Given the description of an element on the screen output the (x, y) to click on. 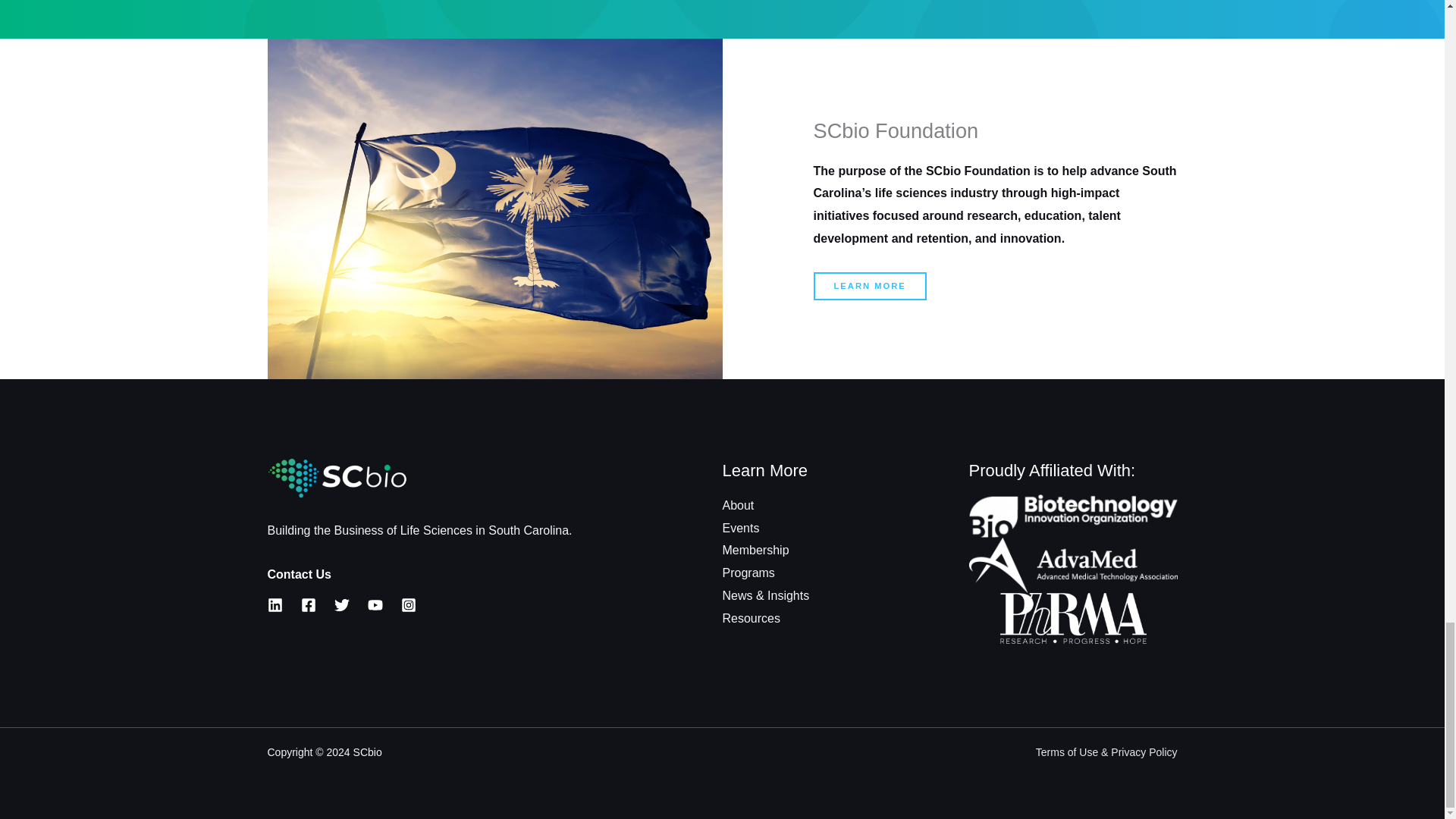
Save with SCbio (1073, 514)
PhRMA (1073, 626)
AdvaMed (1073, 579)
